Given the description of an element on the screen output the (x, y) to click on. 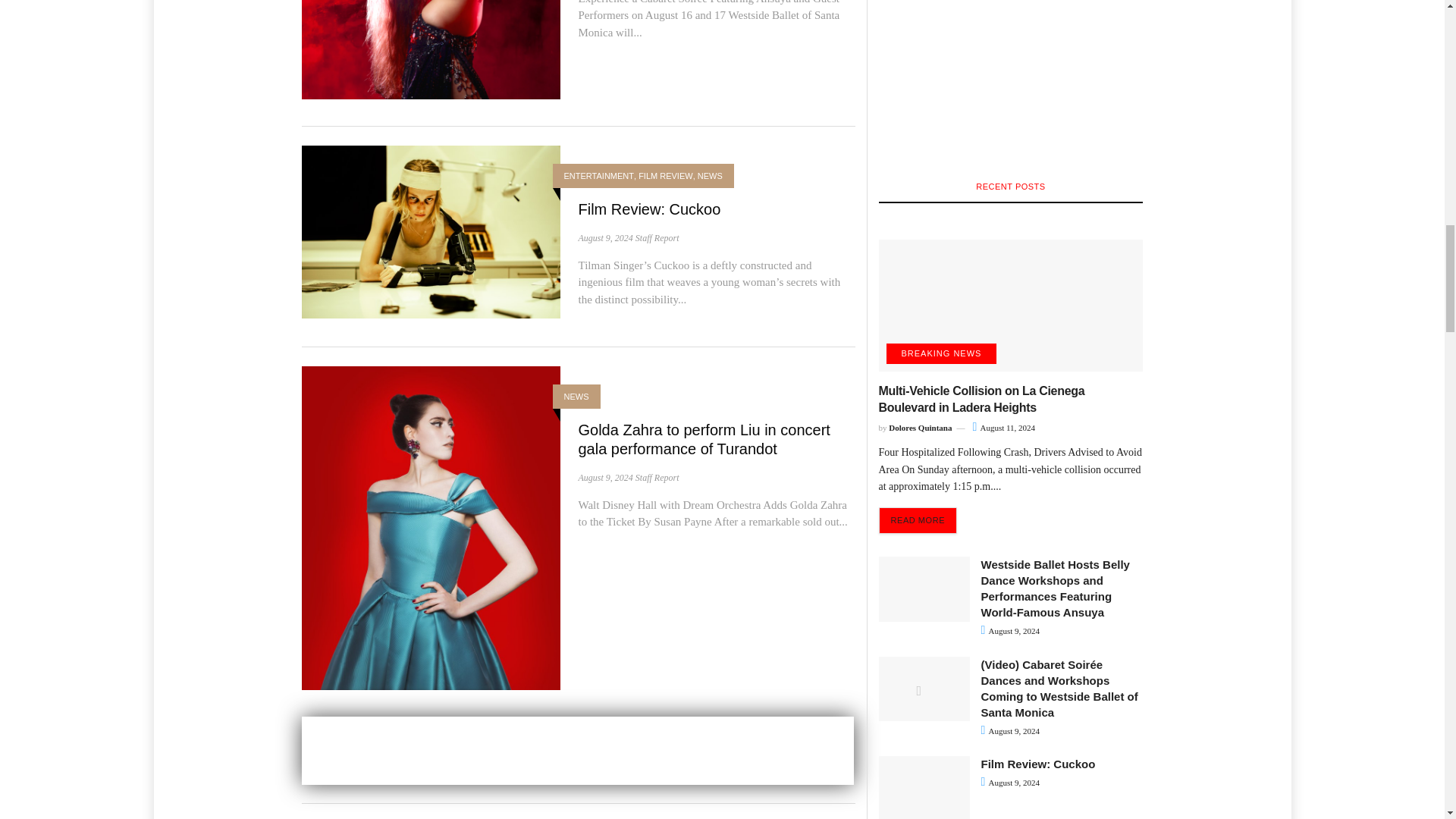
Posts by Staff Report (656, 477)
Film Review: Cuckoo (430, 231)
Posts by Staff Report (656, 237)
Film Review: Cuckoo (649, 208)
